Given the description of an element on the screen output the (x, y) to click on. 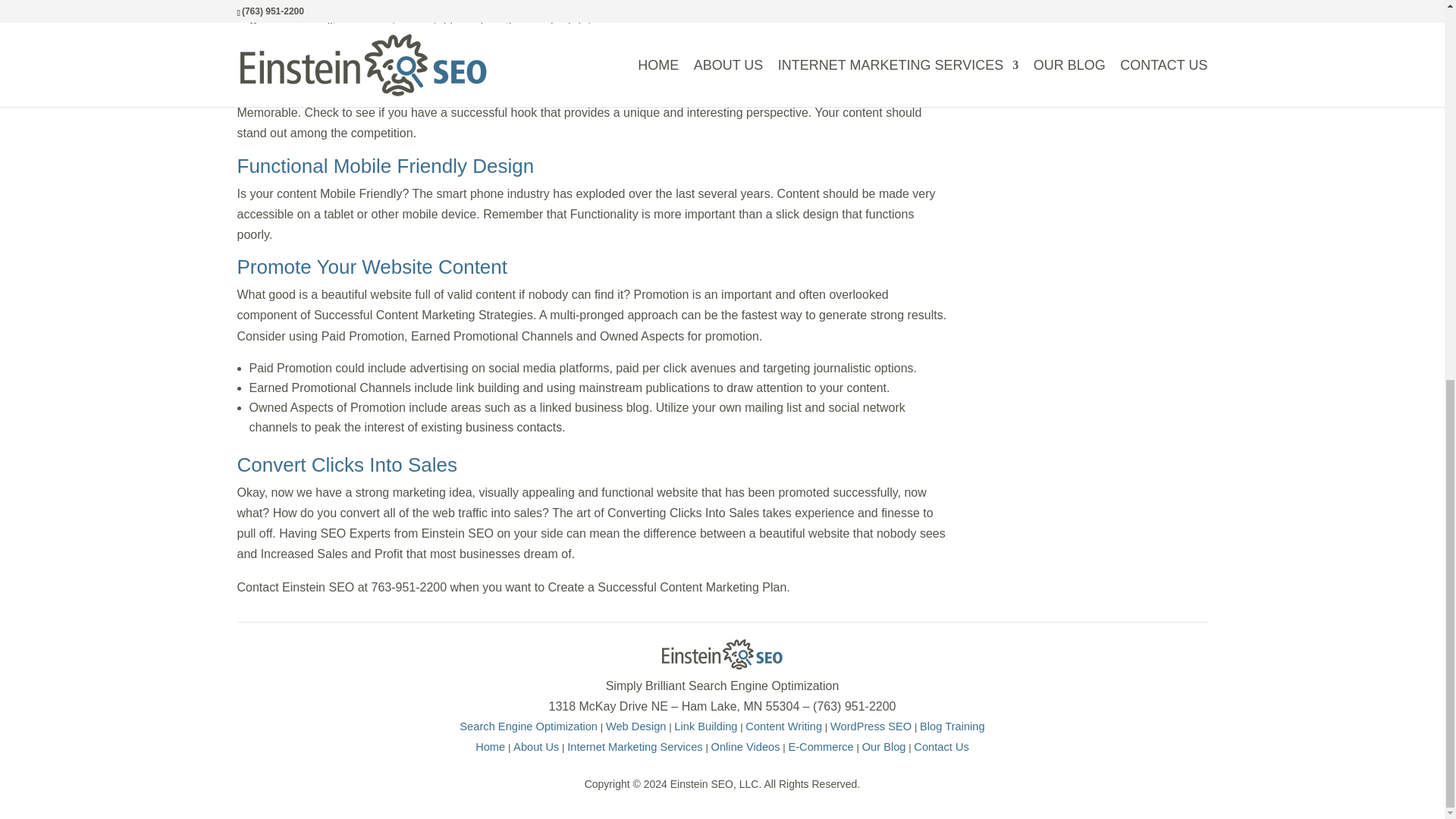
Link Building (705, 726)
Home (490, 746)
Content Writing (783, 726)
WordPress SEO (870, 726)
Search Engine Optimization (528, 726)
Web Design (635, 726)
Blog Training (952, 726)
